Given the description of an element on the screen output the (x, y) to click on. 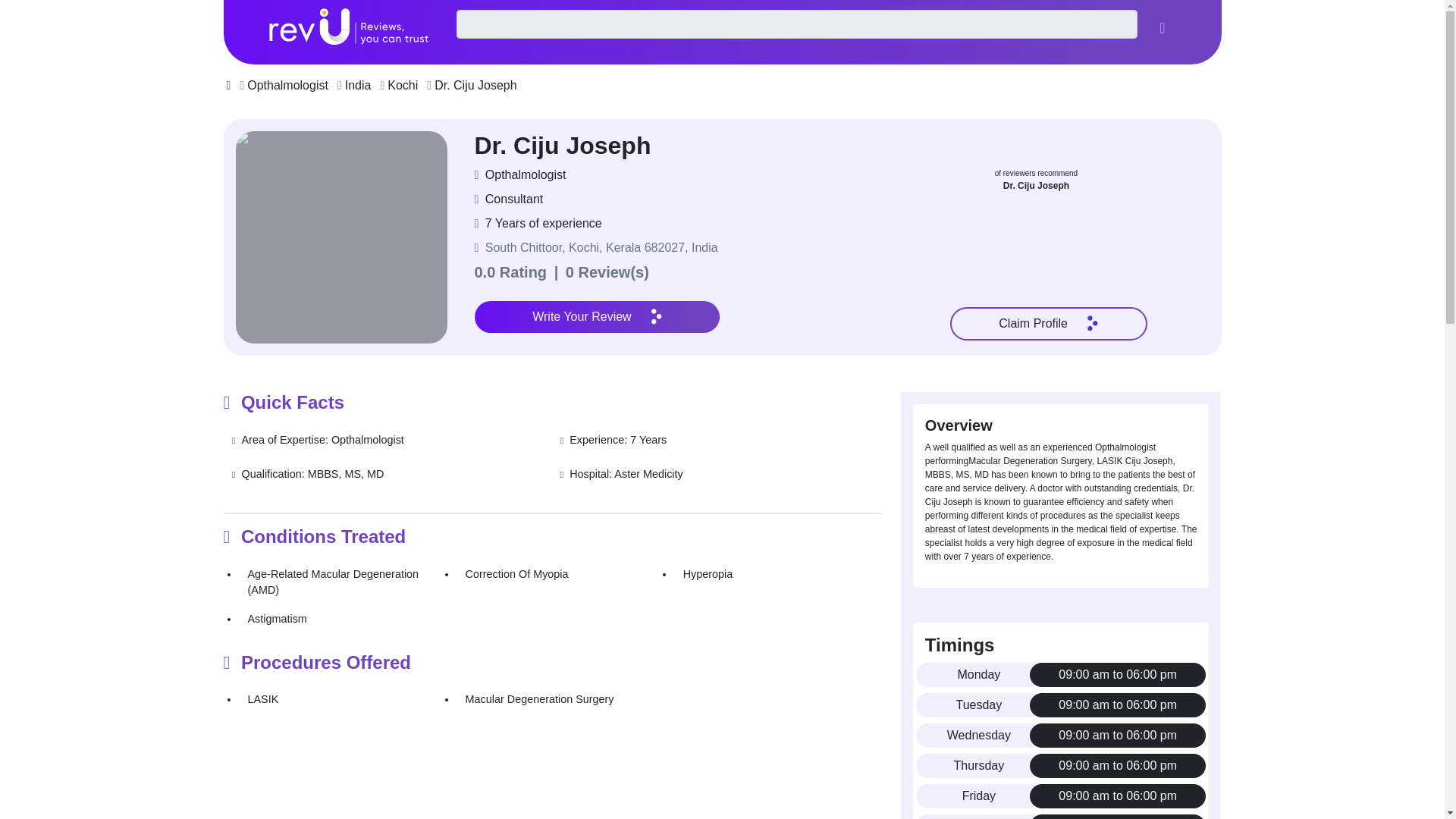
Claim Profile (1048, 323)
Write Your Review (597, 316)
Kochi (402, 84)
India (358, 84)
Dr. Ciju Joseph (474, 84)
Opthalmologist (287, 84)
